Given the description of an element on the screen output the (x, y) to click on. 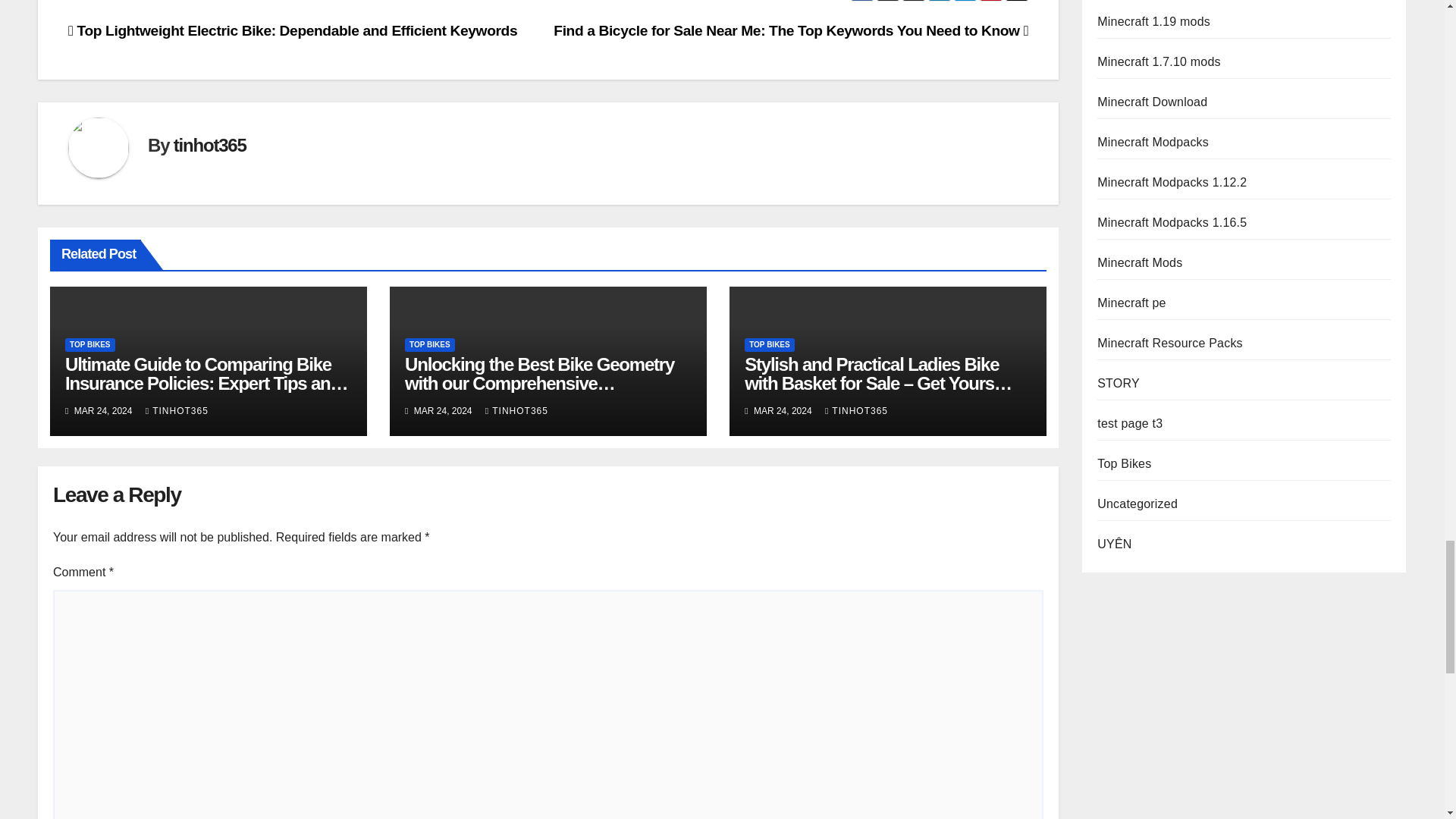
TINHOT365 (516, 410)
tinhot365 (209, 145)
TOP BIKES (90, 345)
TINHOT365 (856, 410)
TOP BIKES (429, 345)
